Given the description of an element on the screen output the (x, y) to click on. 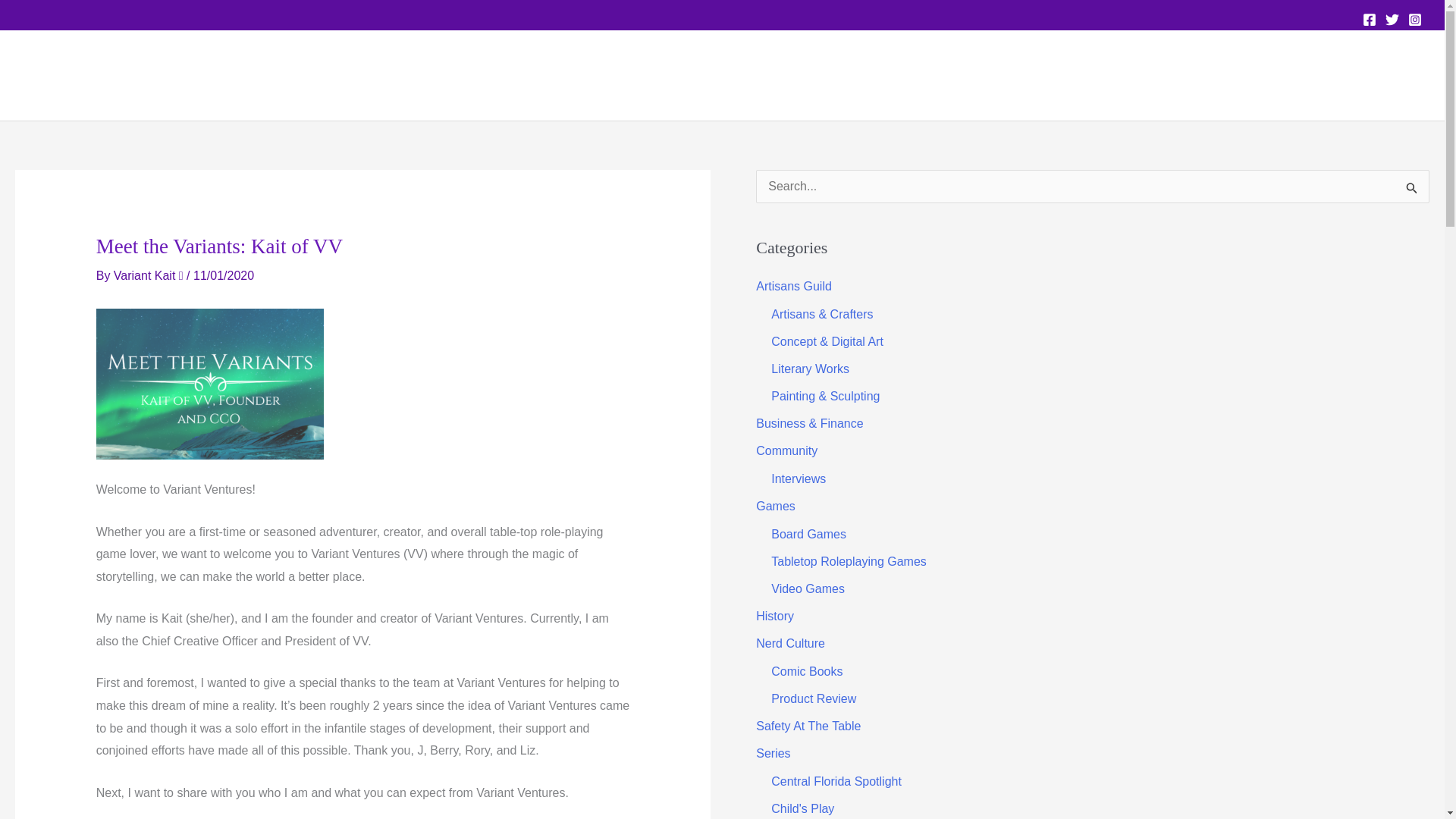
Shoppe (1394, 74)
About (1324, 74)
Media (1256, 74)
Blog (1202, 74)
Home (1021, 74)
